Given the description of an element on the screen output the (x, y) to click on. 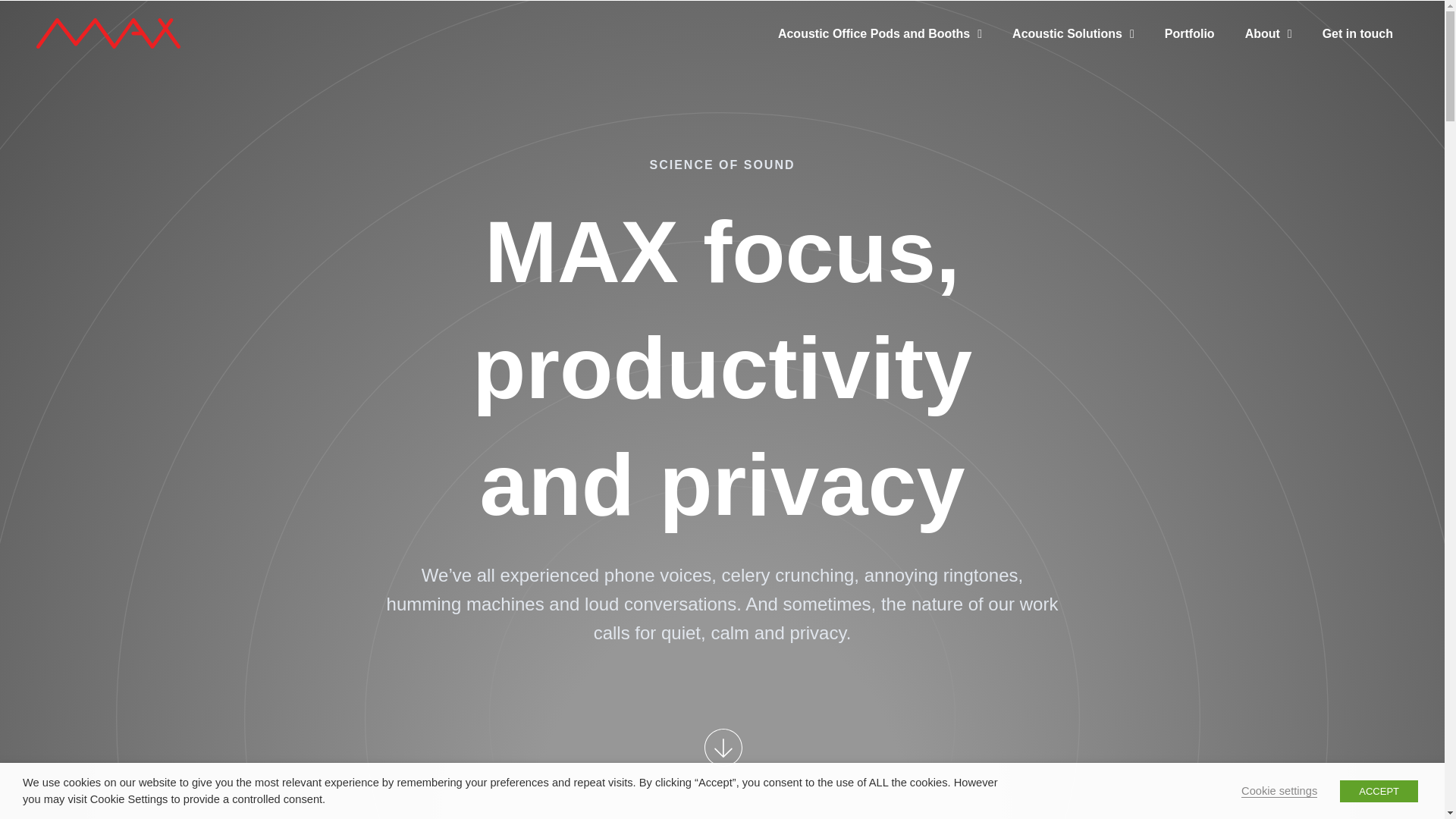
Get in touch (1357, 47)
Acoustic Office Pods and Booths (879, 47)
Acoustic Solutions (1073, 47)
About (1268, 47)
Portfolio (1190, 47)
